Given the description of an element on the screen output the (x, y) to click on. 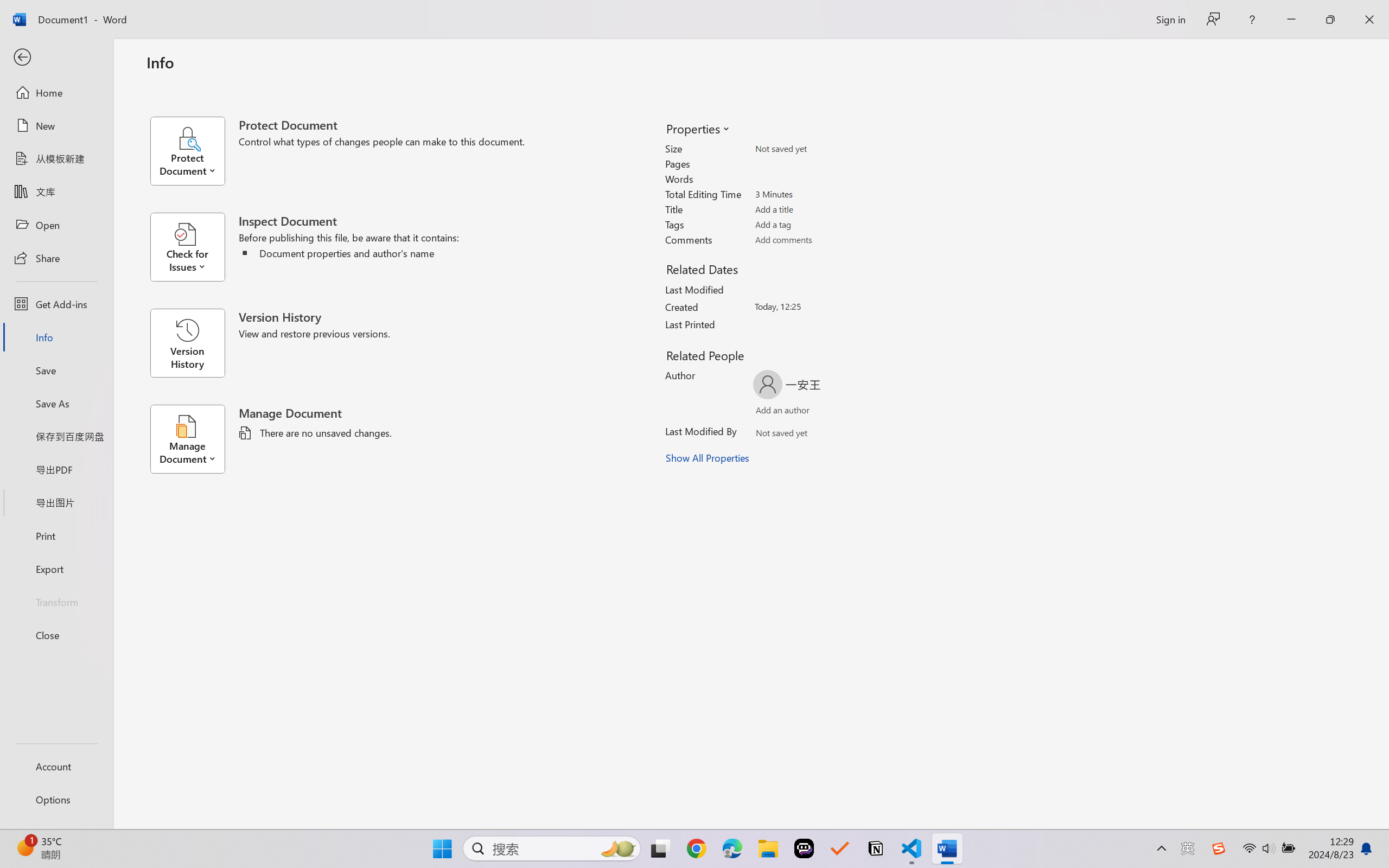
Verify Names (802, 434)
Total Editing Time (818, 193)
Version History (187, 343)
Save As (56, 403)
Pages (818, 163)
Add an author (772, 411)
Size (818, 148)
Account (56, 765)
Title (818, 209)
